Given the description of an element on the screen output the (x, y) to click on. 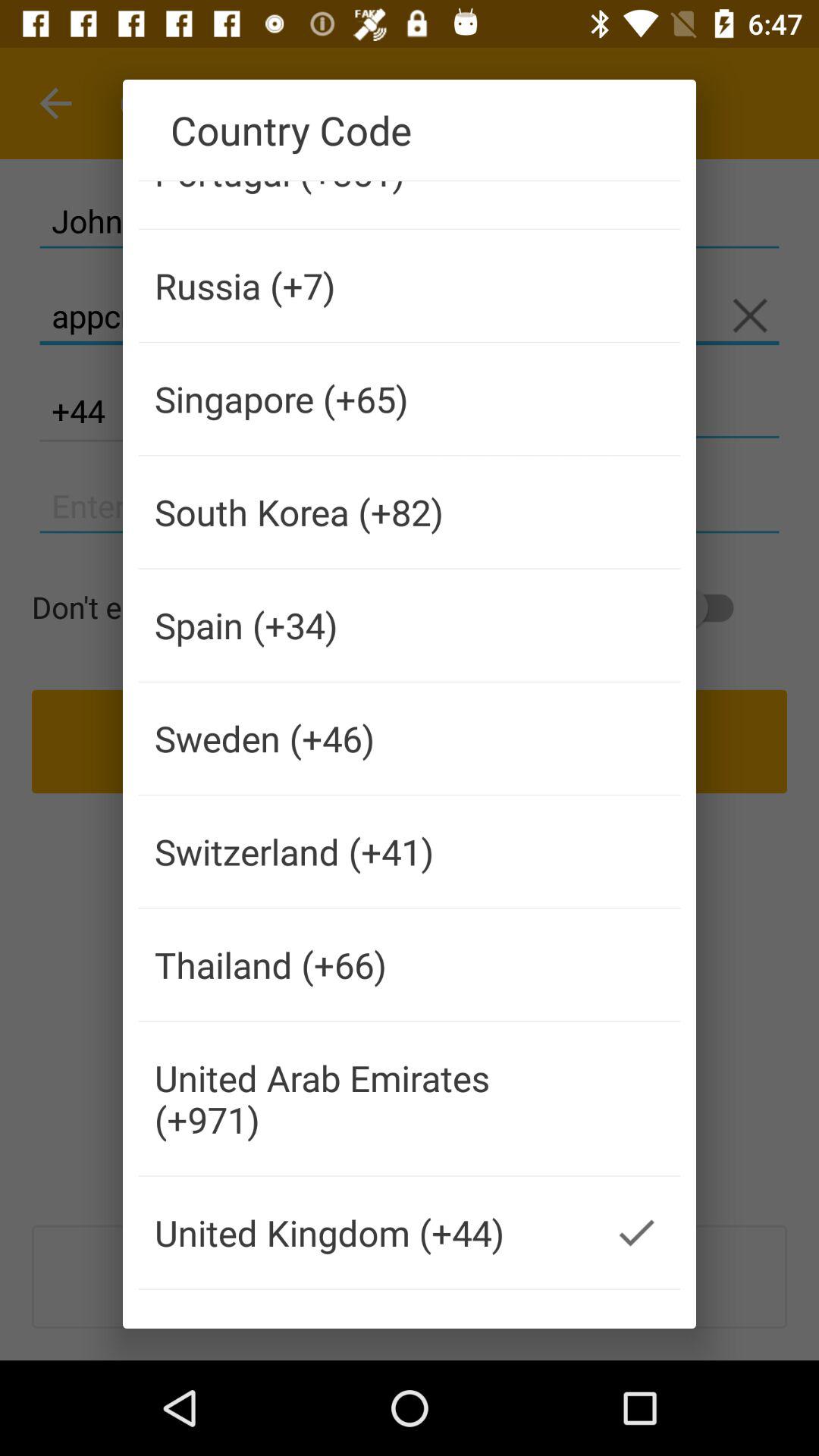
flip until the portugal (+351) (365, 204)
